Given the description of an element on the screen output the (x, y) to click on. 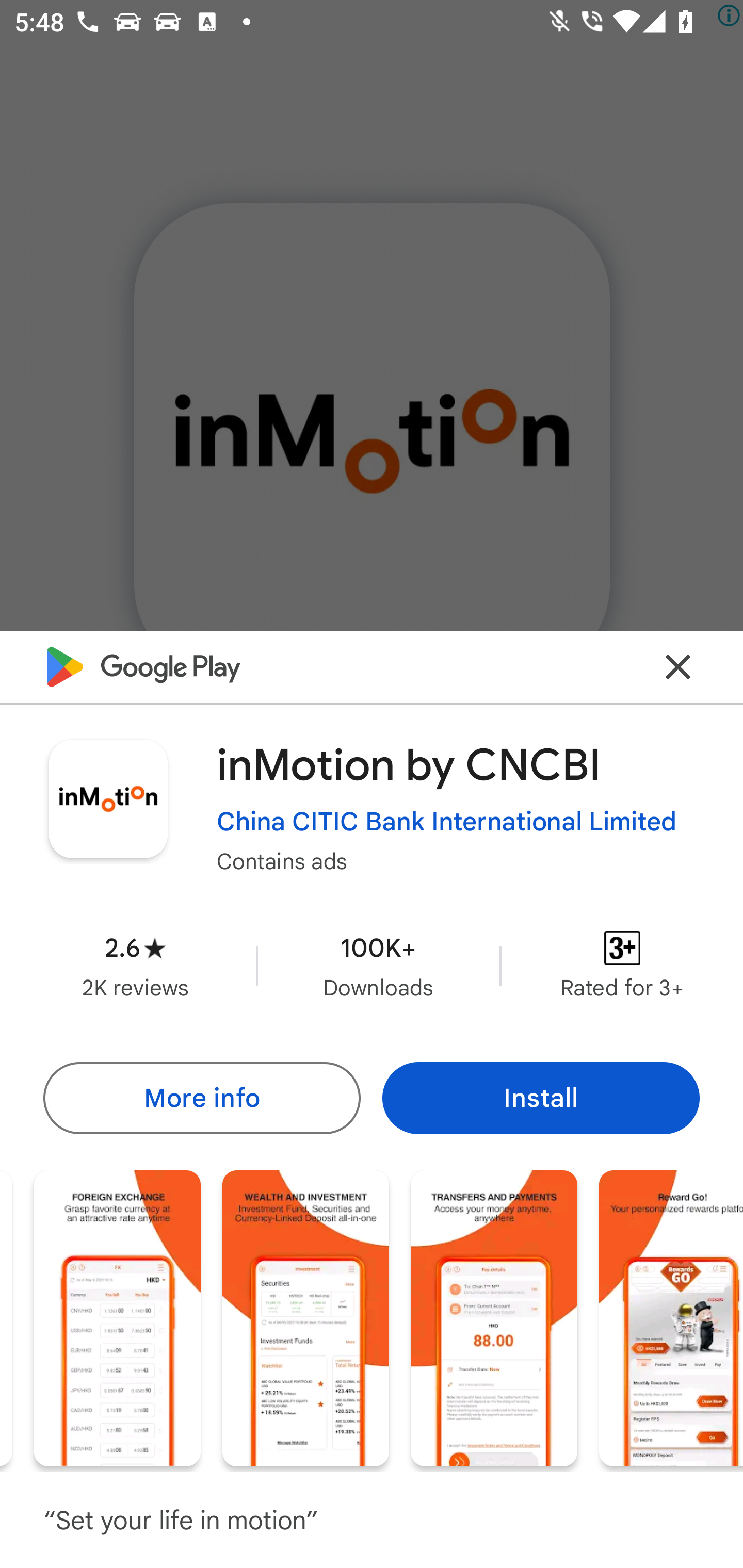
Close (677, 666)
Image of app or game icon for inMotion by CNCBI (108, 798)
China CITIC Bank International Limited (446, 822)
More info (201, 1097)
Install (540, 1097)
Screenshot "4" of "7" (117, 1317)
Screenshot "5" of "7" (305, 1317)
Screenshot "6" of "7" (493, 1317)
Screenshot "7" of "7" (670, 1317)
